Given the description of an element on the screen output the (x, y) to click on. 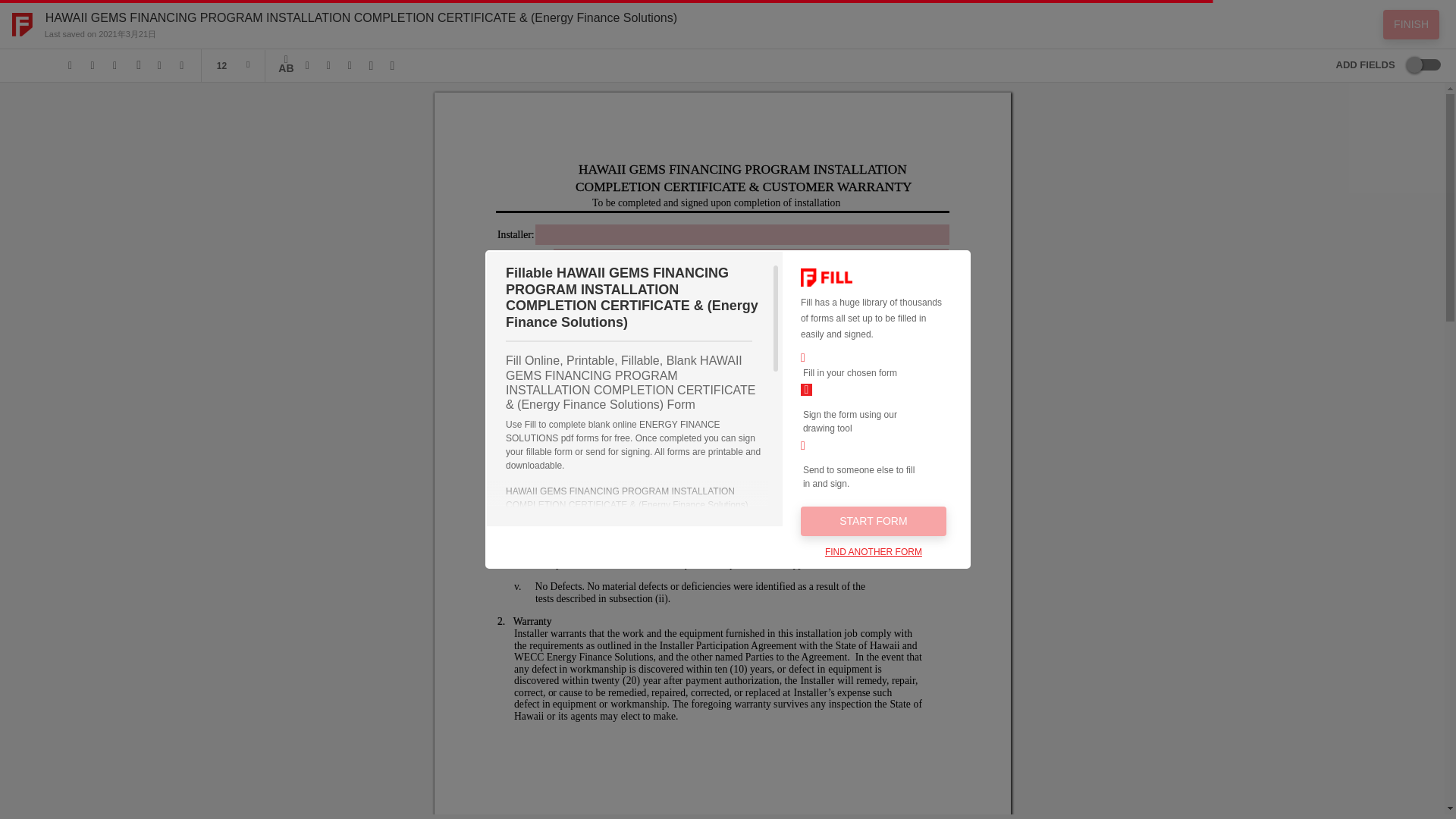
START FORM (873, 521)
FIND ANOTHER FORM (873, 552)
BROWSE ENERGY FINANCE SOLUTIONS FORMS (612, 741)
FINISH (1411, 23)
